Given the description of an element on the screen output the (x, y) to click on. 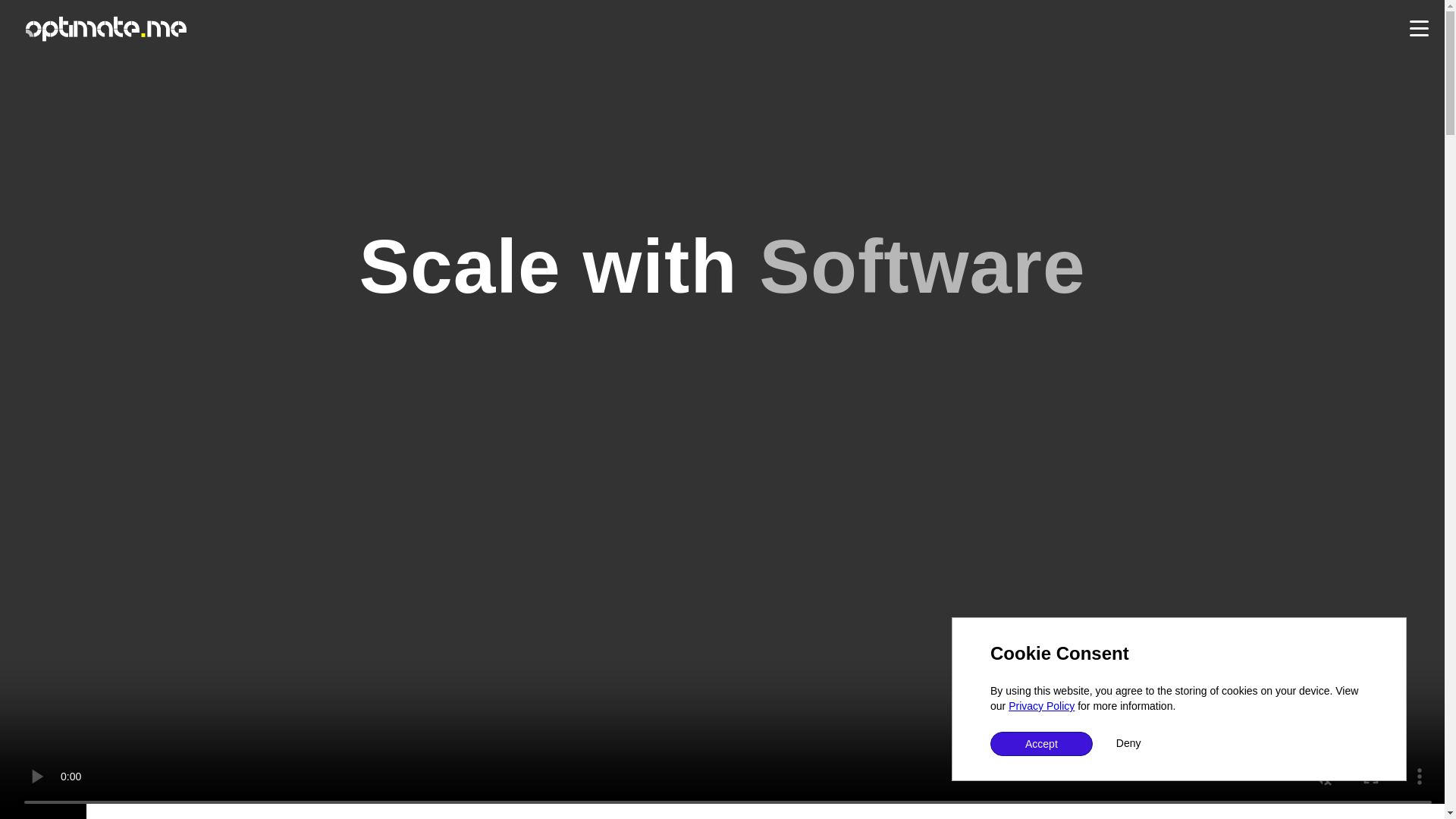
Deny (1129, 743)
Privacy Policy (1041, 705)
Accept (1041, 743)
